Given the description of an element on the screen output the (x, y) to click on. 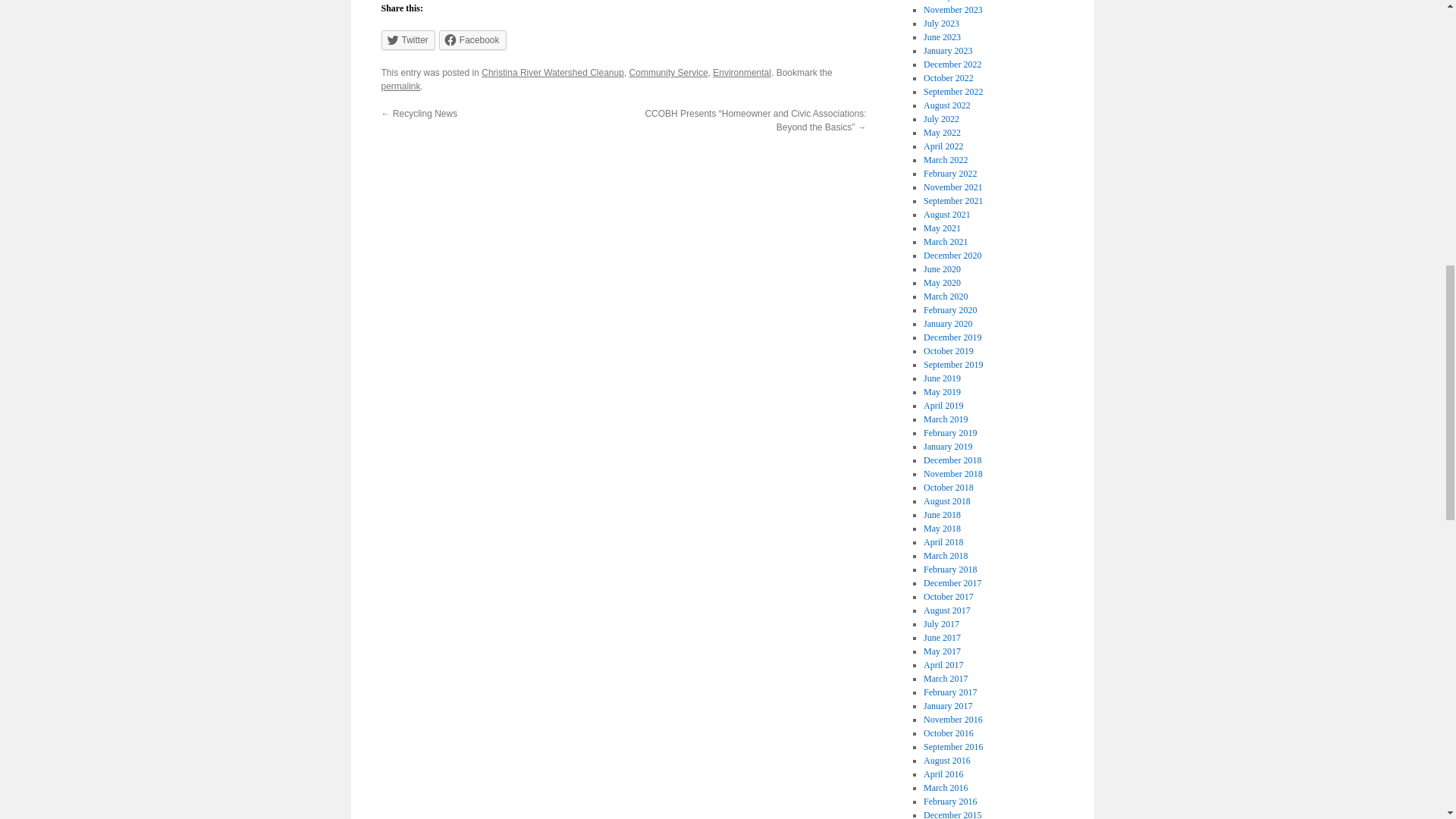
Christina River Watershed Cleanup (552, 72)
Permalink to Christina River Watershed Cleanup Results (400, 86)
Facebook (472, 39)
Click to share on Twitter (406, 39)
Community Service (667, 72)
Twitter (406, 39)
Click to share on Facebook (472, 39)
